Given the description of an element on the screen output the (x, y) to click on. 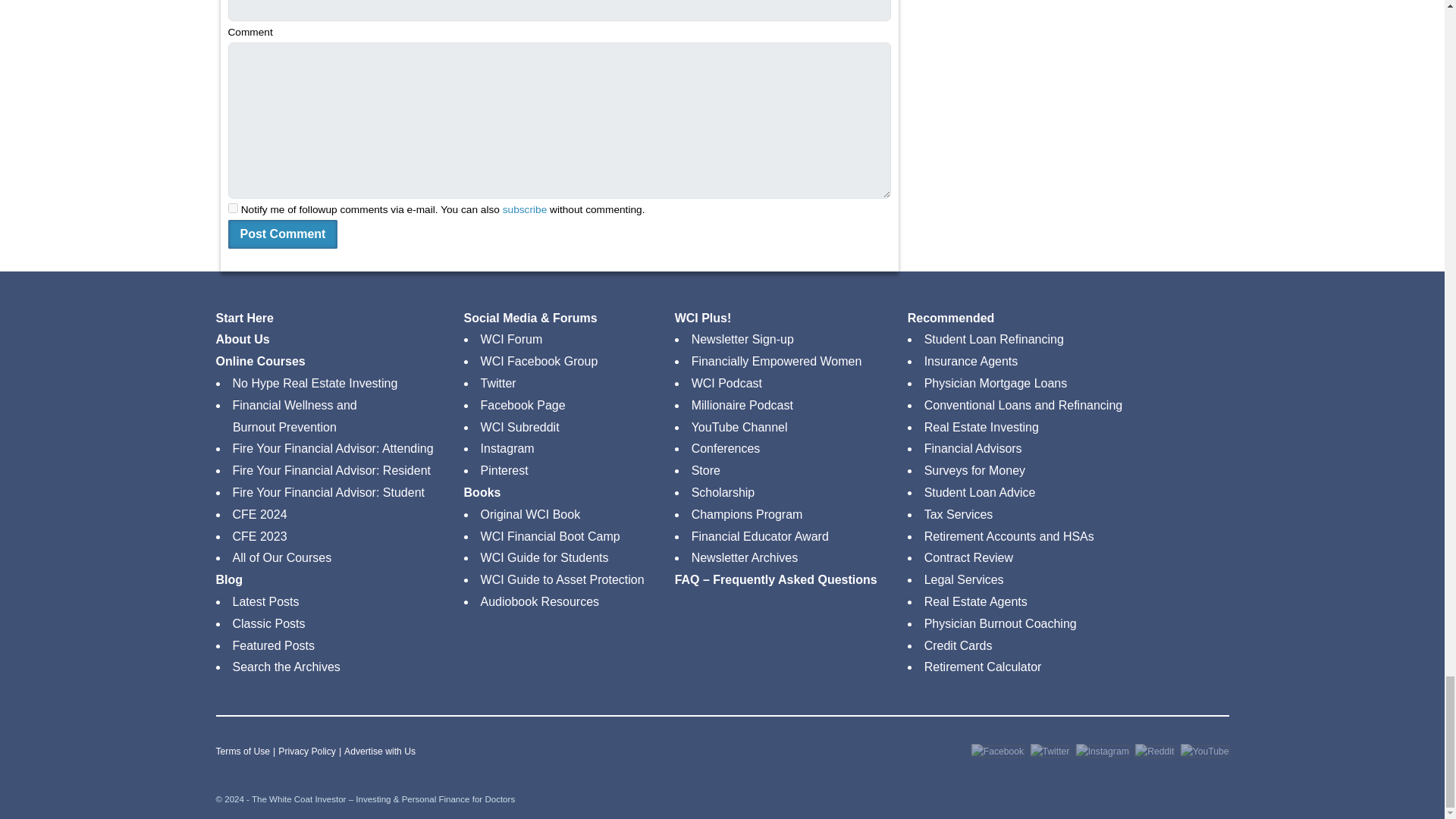
replies (232, 207)
Facebook (997, 751)
Instagram (1102, 751)
Twitter (1050, 751)
Post Comment (282, 234)
Reddit (1154, 751)
YouTube (1204, 751)
